Given the description of an element on the screen output the (x, y) to click on. 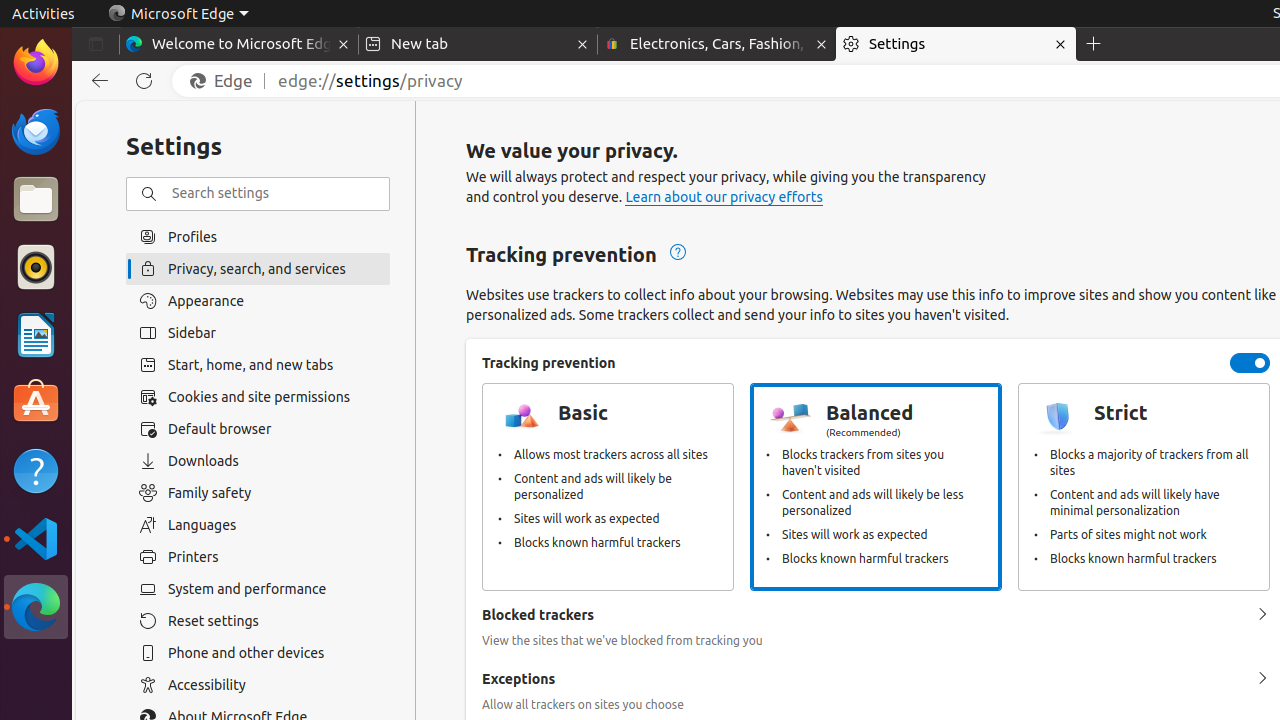
Refresh Element type: push-button (144, 81)
Microsoft Edge Element type: push-button (36, 607)
New Tab Element type: push-button (1094, 44)
Profiles Element type: tree-item (258, 236)
Files Element type: push-button (36, 199)
